Given the description of an element on the screen output the (x, y) to click on. 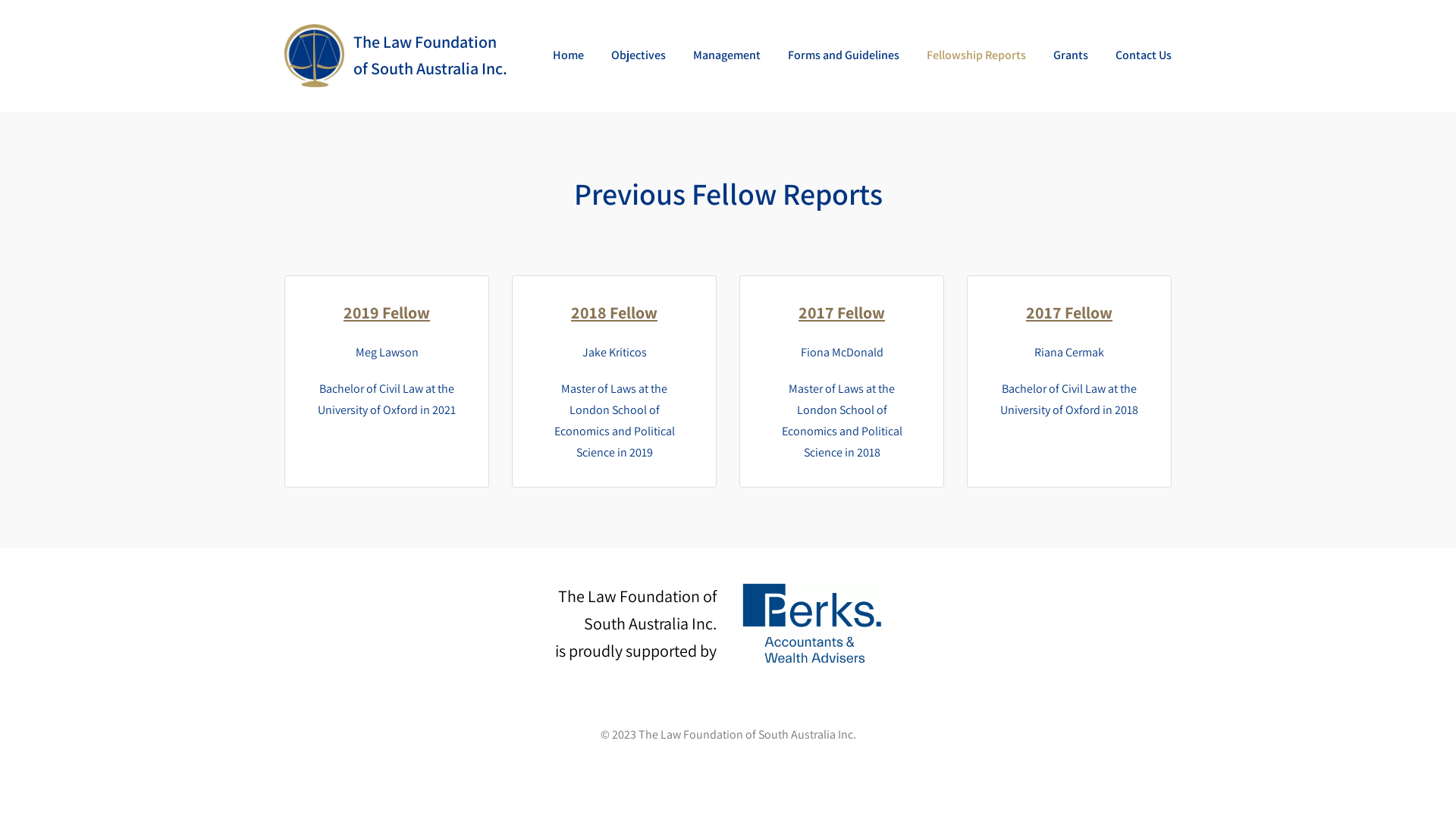
Objectives Element type: text (638, 54)
Contact Us Element type: text (1143, 54)
Fellowship Reports Element type: text (976, 54)
Management Element type: text (726, 54)
Home Element type: text (567, 54)
2017 Fellow Element type: text (1069, 312)
2019 Fellow Element type: text (386, 312)
Forms and Guidelines Element type: text (843, 54)
Grants Element type: text (1070, 54)
2018 Fellow Element type: text (614, 312)
2017 Fellow Element type: text (841, 312)
